Given the description of an element on the screen output the (x, y) to click on. 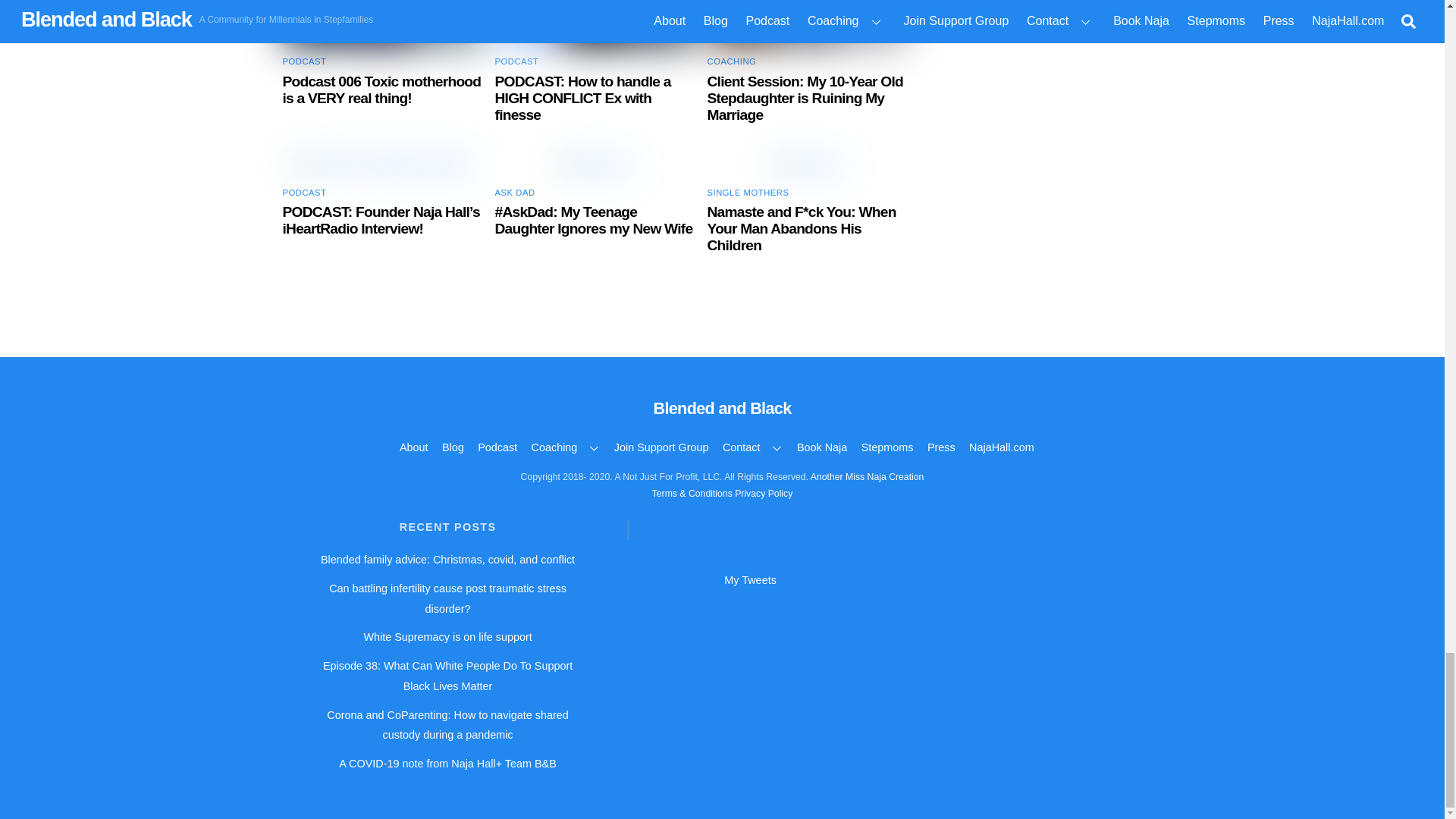
Podcast 006 Toxic motherhood is a VERY real thing! (381, 89)
PODCAST (304, 61)
PODCAST (516, 61)
